Given the description of an element on the screen output the (x, y) to click on. 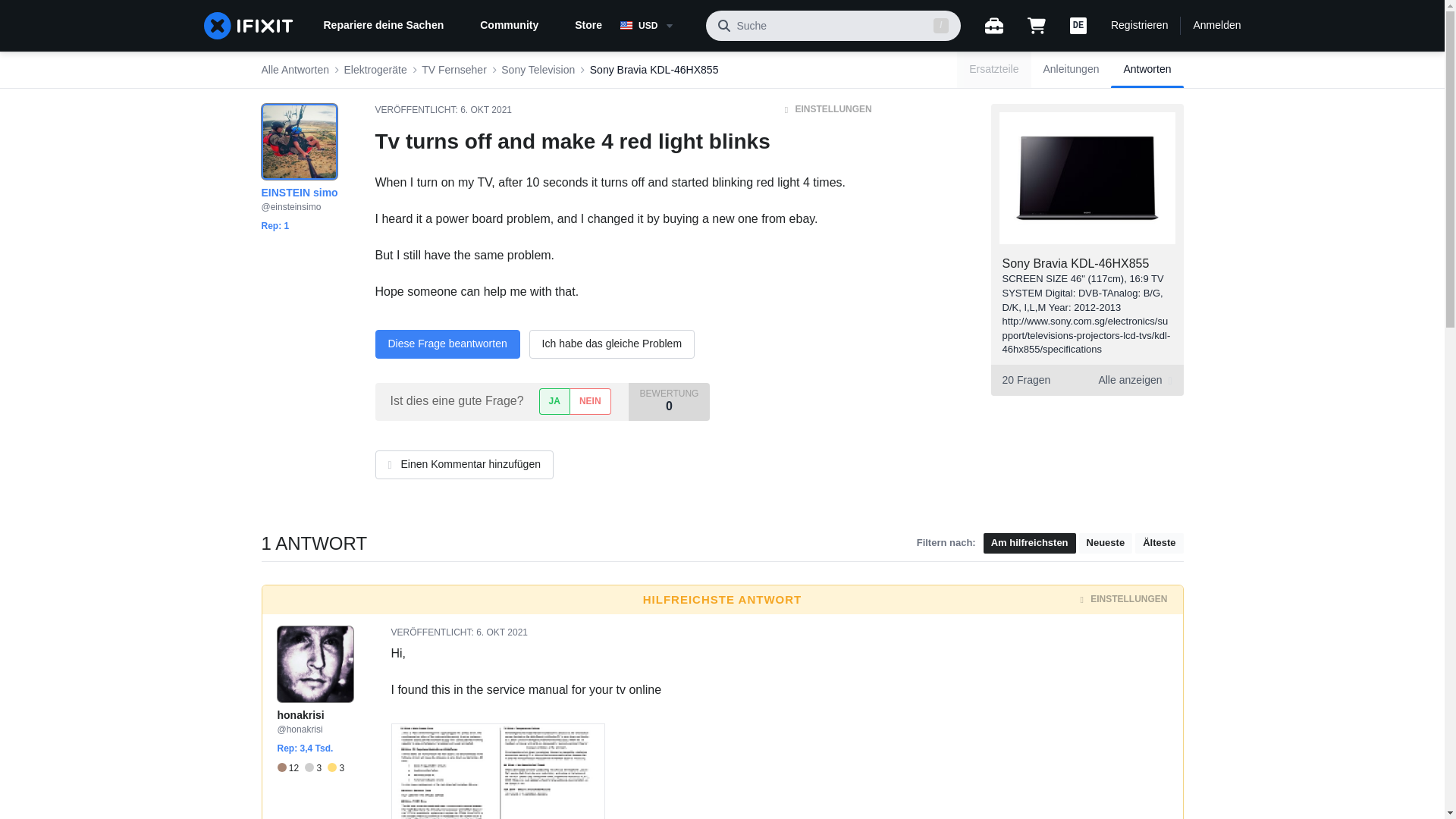
3 Silber Auszeichnungen (315, 767)
Sony Television (537, 69)
Sony Bravia KDL-46HX855 (1076, 263)
Antworten (1146, 69)
Diese Frage beantworten (446, 344)
USD (657, 25)
Anleitungen (1071, 69)
3 Gold Auszeichnungen (335, 767)
Alle Antworten (294, 69)
12 Bronze Auszeichnungen (291, 767)
